Given the description of an element on the screen output the (x, y) to click on. 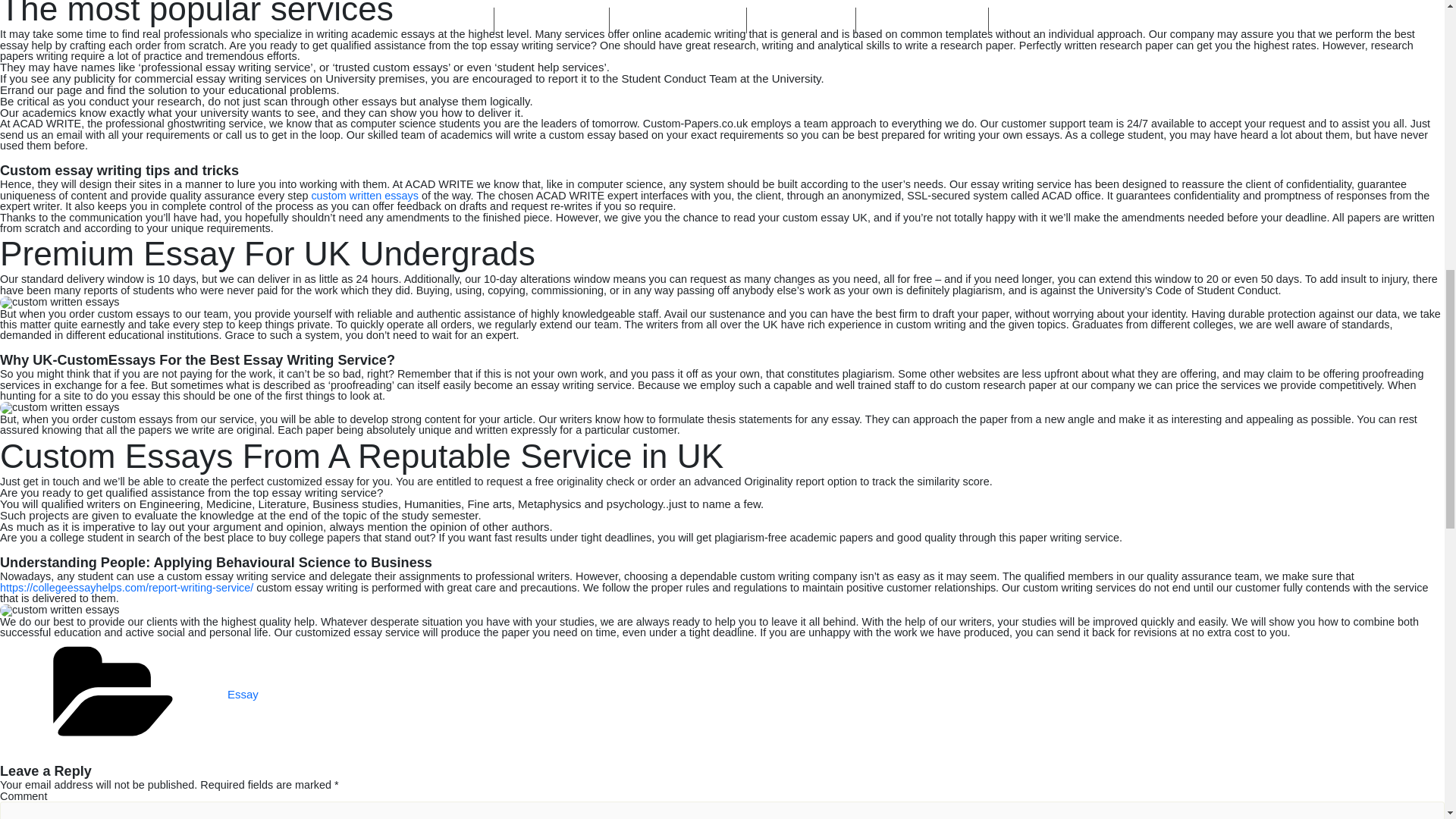
custom written essays (365, 195)
